Given the description of an element on the screen output the (x, y) to click on. 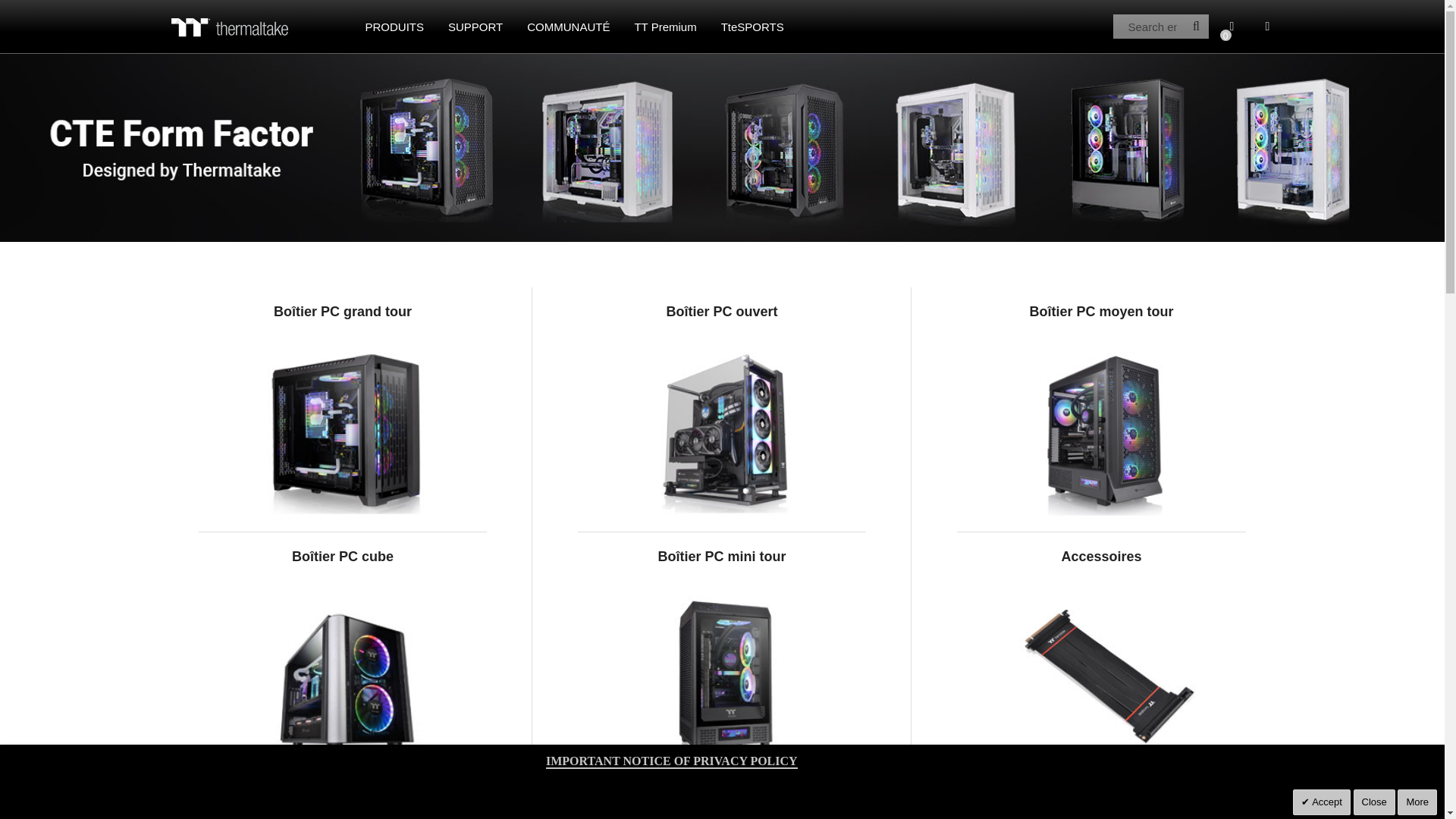
Search (1196, 26)
SUPPORT (475, 26)
PRODUITS (395, 26)
